Given the description of an element on the screen output the (x, y) to click on. 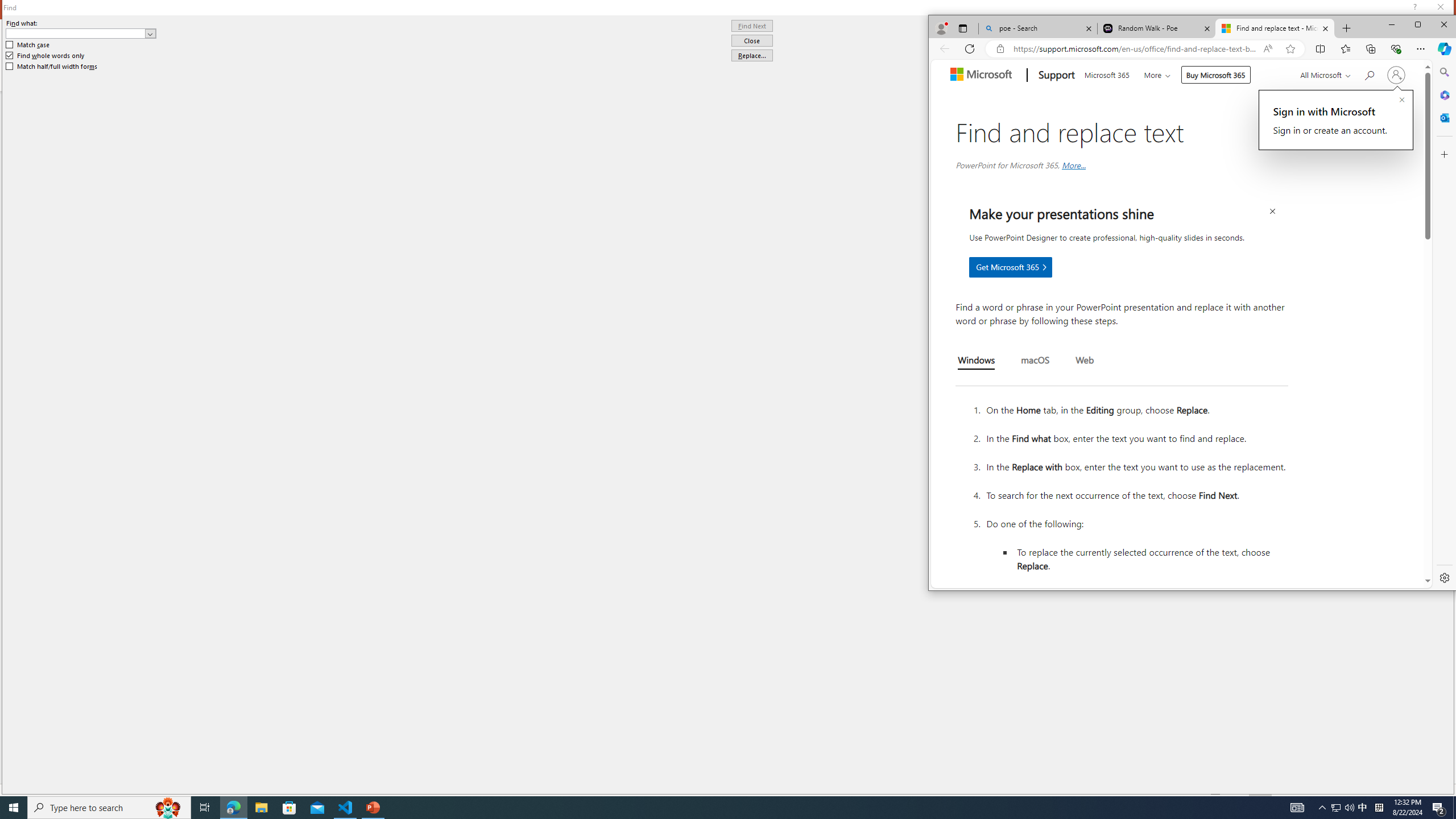
Microsoft 365 (1106, 73)
